Given the description of an element on the screen output the (x, y) to click on. 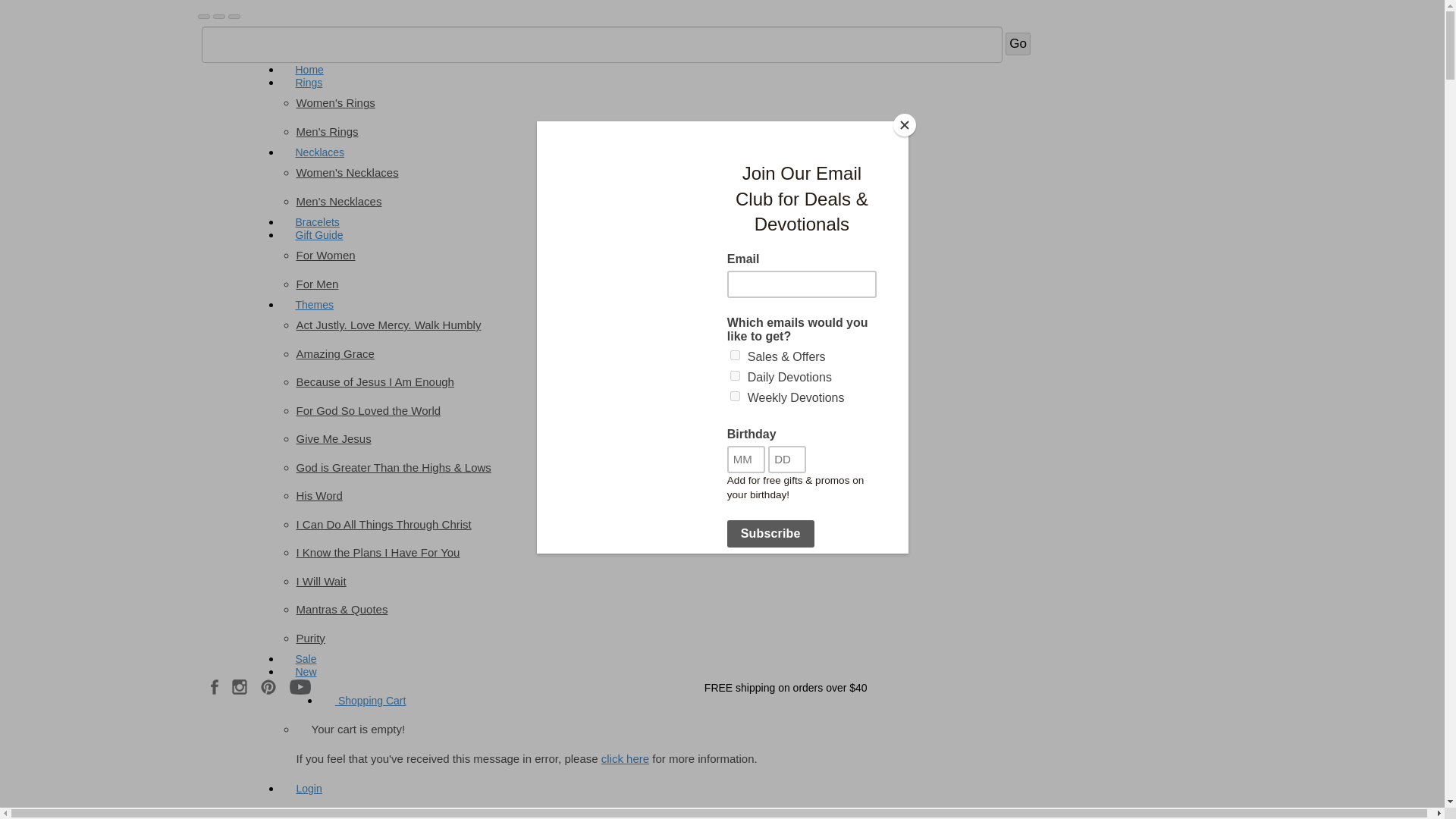
New (305, 671)
I Know the Plans I Have For You (377, 552)
Go (1018, 43)
Login (308, 788)
Help with Cookies (625, 758)
Men's Necklaces (338, 200)
Women's Necklaces (346, 172)
Rings (308, 82)
Act Justly. Love Mercy. Walk Humbly (387, 324)
click here (625, 758)
Purity (309, 636)
Gift Guide (318, 235)
For Women (325, 254)
Bracelets (317, 221)
Home (309, 69)
